Given the description of an element on the screen output the (x, y) to click on. 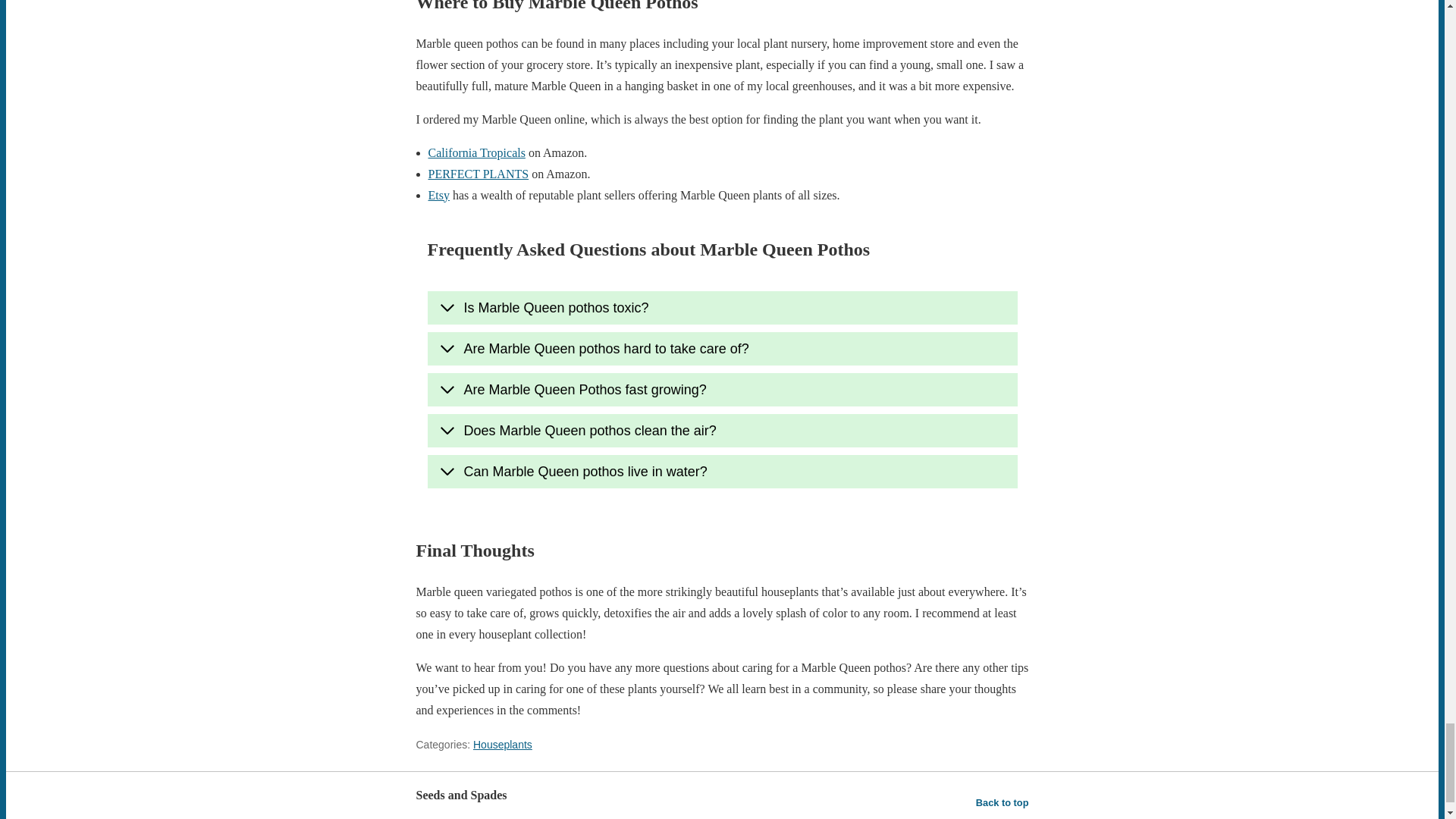
Houseplants (502, 744)
Are Marble Queen Pothos fast growing? (722, 389)
Is Marble Queen pothos toxic? (722, 307)
Are Marble Queen pothos hard to take care of? (722, 348)
Does Marble Queen pothos clean the air? (722, 430)
Can Marble Queen pothos live in water? (722, 471)
Etsy (438, 195)
California Tropicals (476, 152)
Back to top (1002, 803)
PERFECT PLANTS (478, 173)
